Given the description of an element on the screen output the (x, y) to click on. 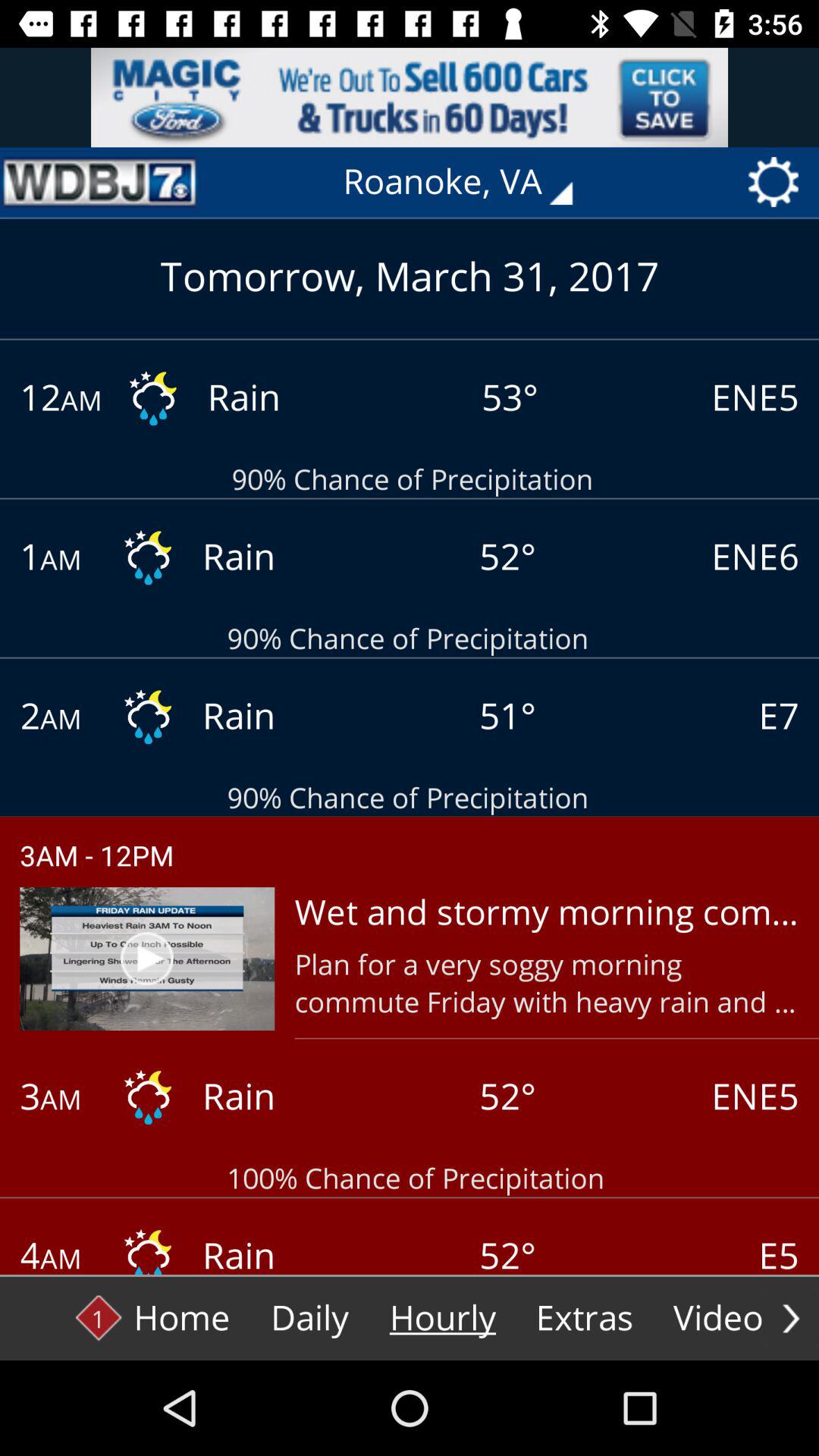
click on home button (153, 1318)
click on settings icon (778, 181)
tap on the play symbol mentioned in video clip (146, 958)
